Given the description of an element on the screen output the (x, y) to click on. 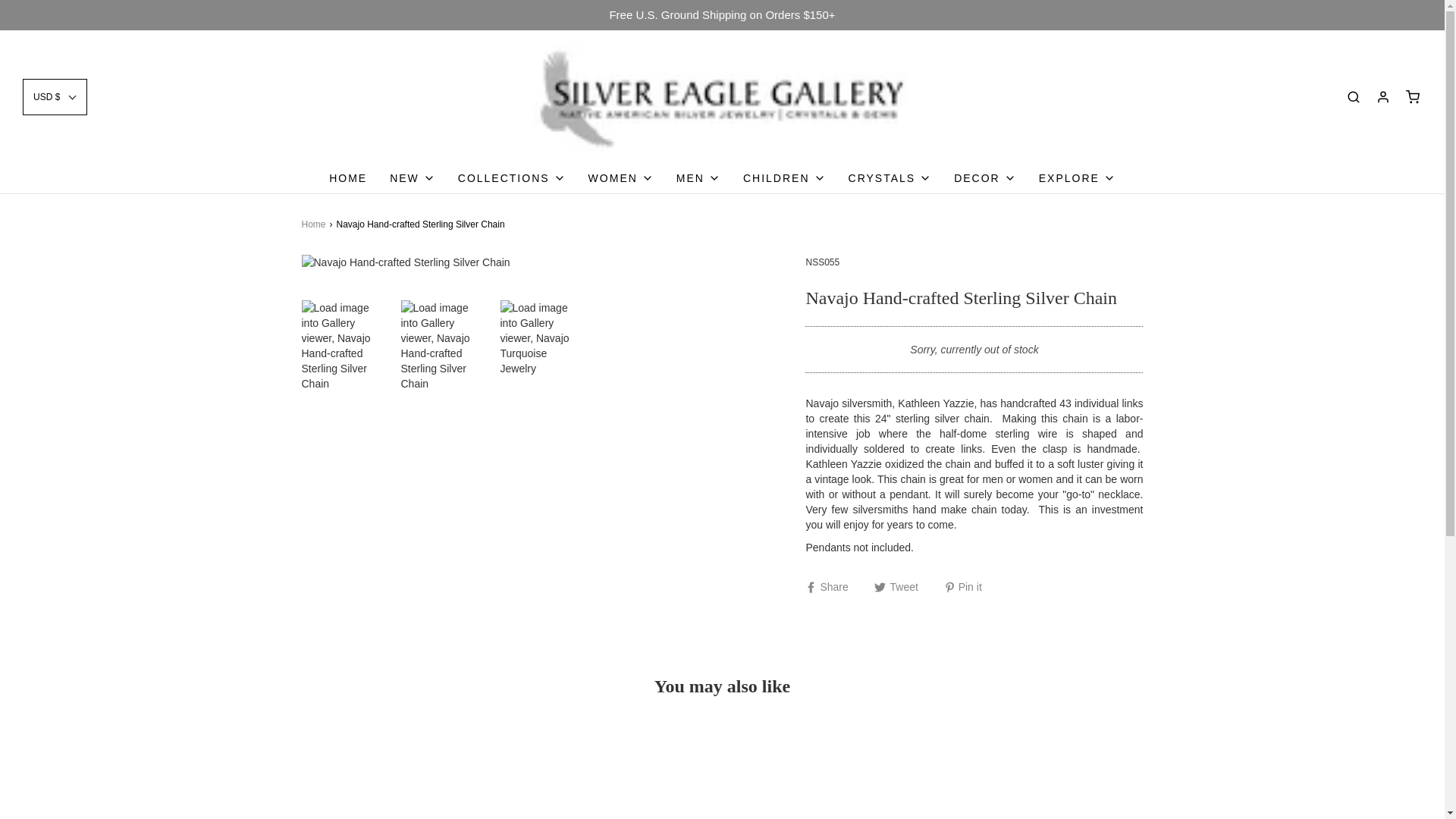
Back to the frontpage (315, 224)
NEW (412, 177)
WOMEN (620, 177)
Cart (1412, 96)
Search (1423, 5)
HOME (347, 177)
Log in (1382, 96)
COLLECTIONS (512, 177)
Search (1352, 96)
